Given the description of an element on the screen output the (x, y) to click on. 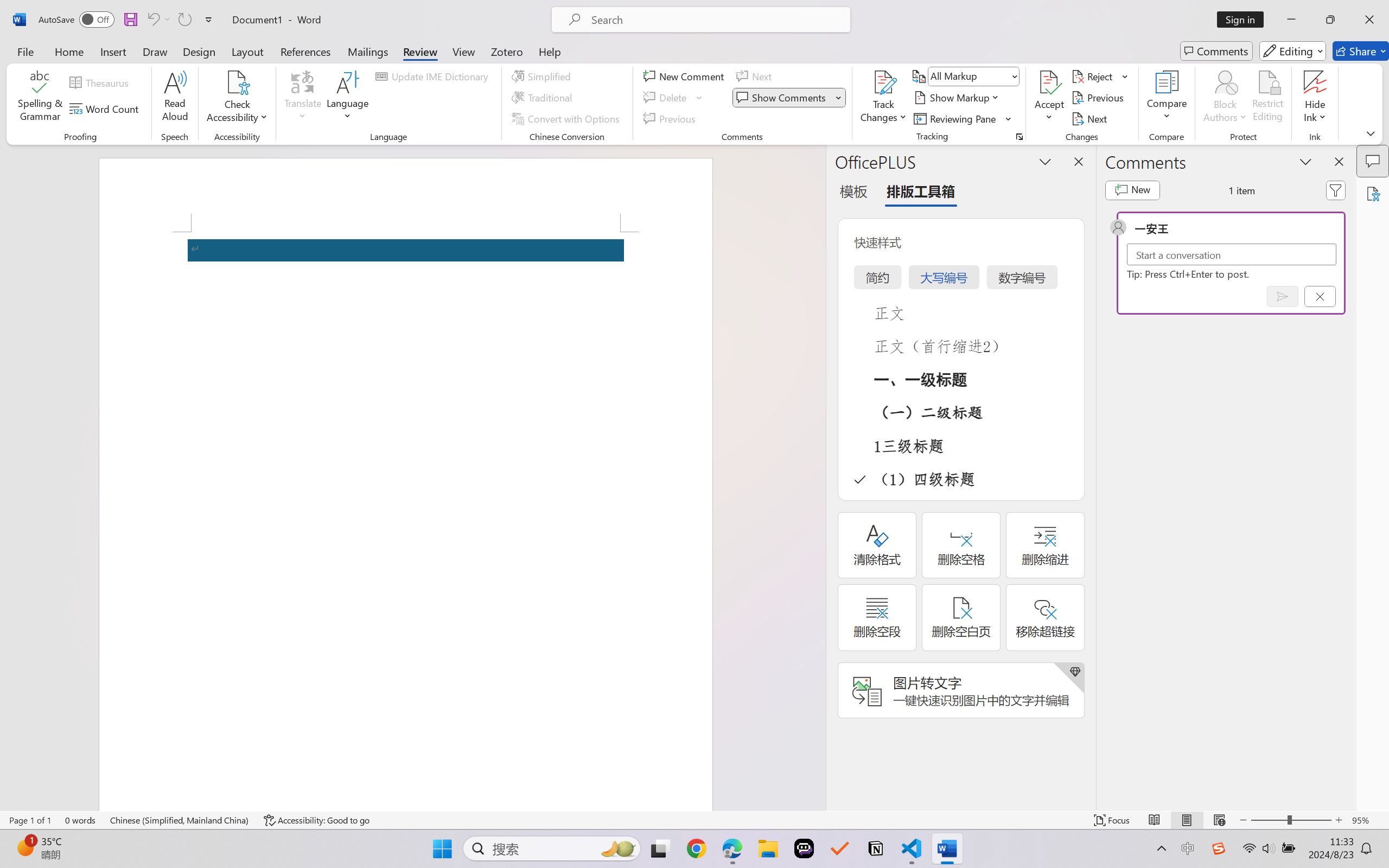
Restrict Editing (1267, 97)
Reviewing Pane (955, 118)
Read Aloud (174, 97)
Filter (1335, 190)
Block Authors (1224, 97)
